Given the description of an element on the screen output the (x, y) to click on. 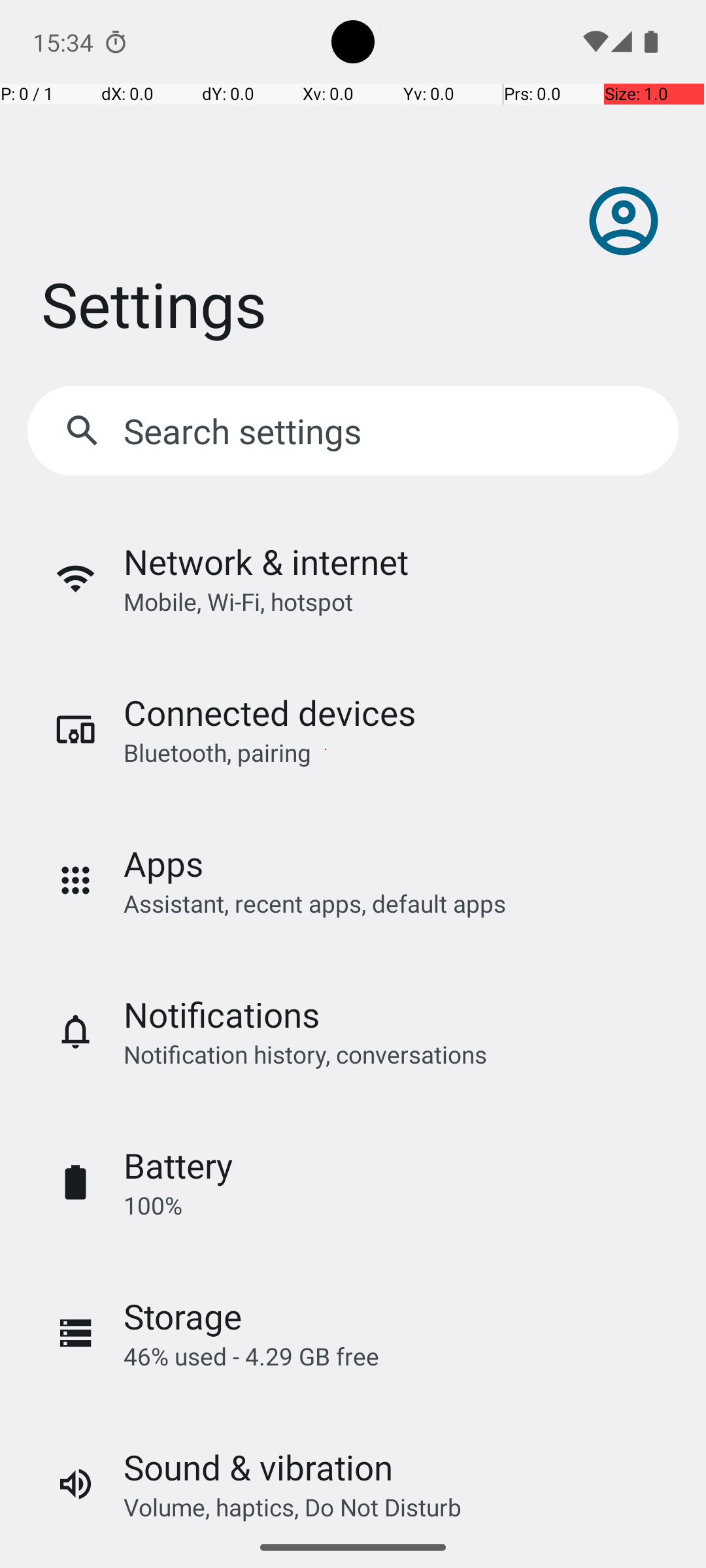
46% used - 4.29 GB free Element type: android.widget.TextView (251, 1355)
